Given the description of an element on the screen output the (x, y) to click on. 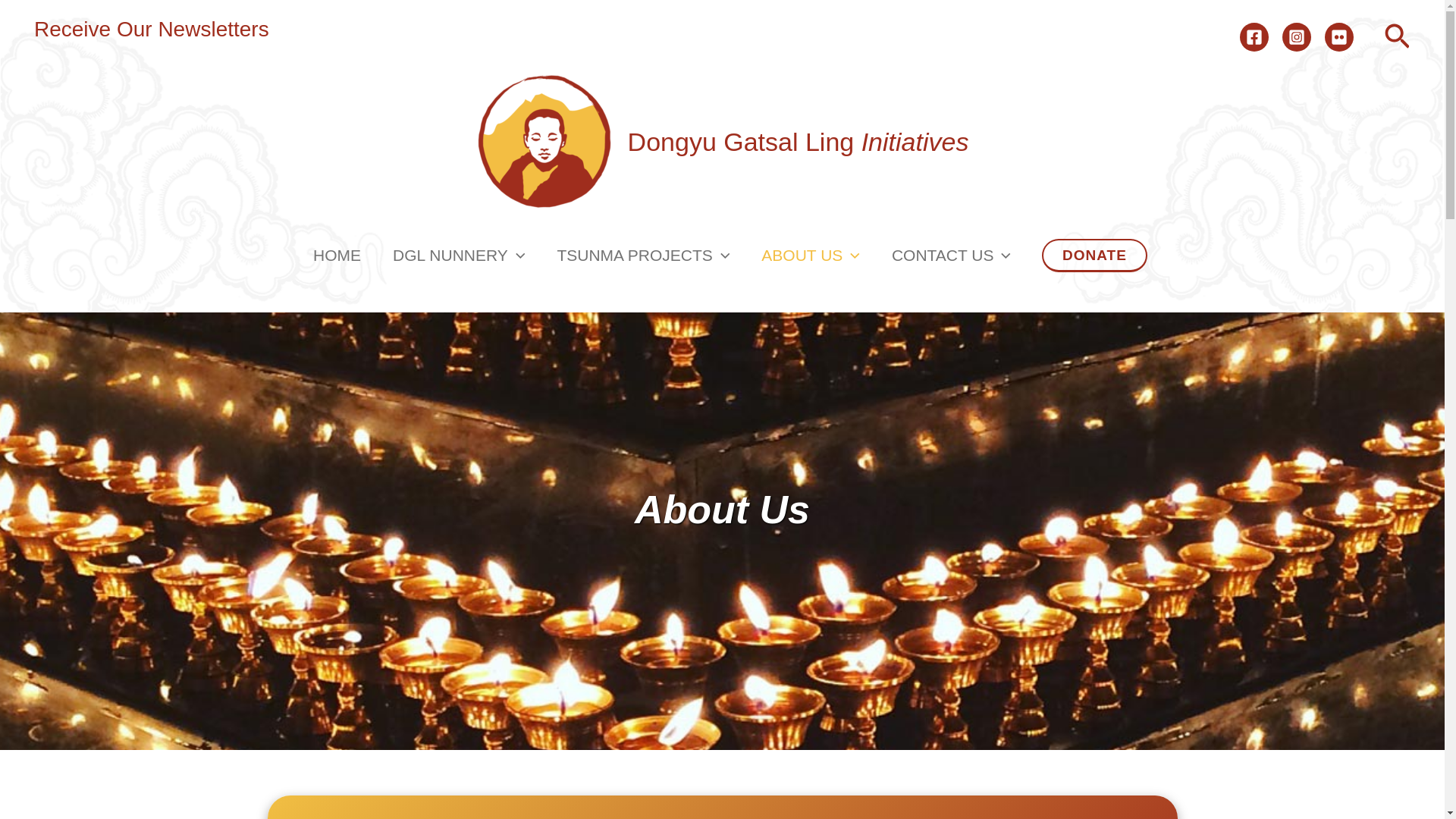
TSUNMA PROJECTS (642, 255)
CONTACT US (951, 255)
HOME (337, 255)
DGL NUNNERY (458, 255)
ABOUT US (810, 255)
DONATE (1094, 255)
Receive Our Newsletters (151, 28)
